Given the description of an element on the screen output the (x, y) to click on. 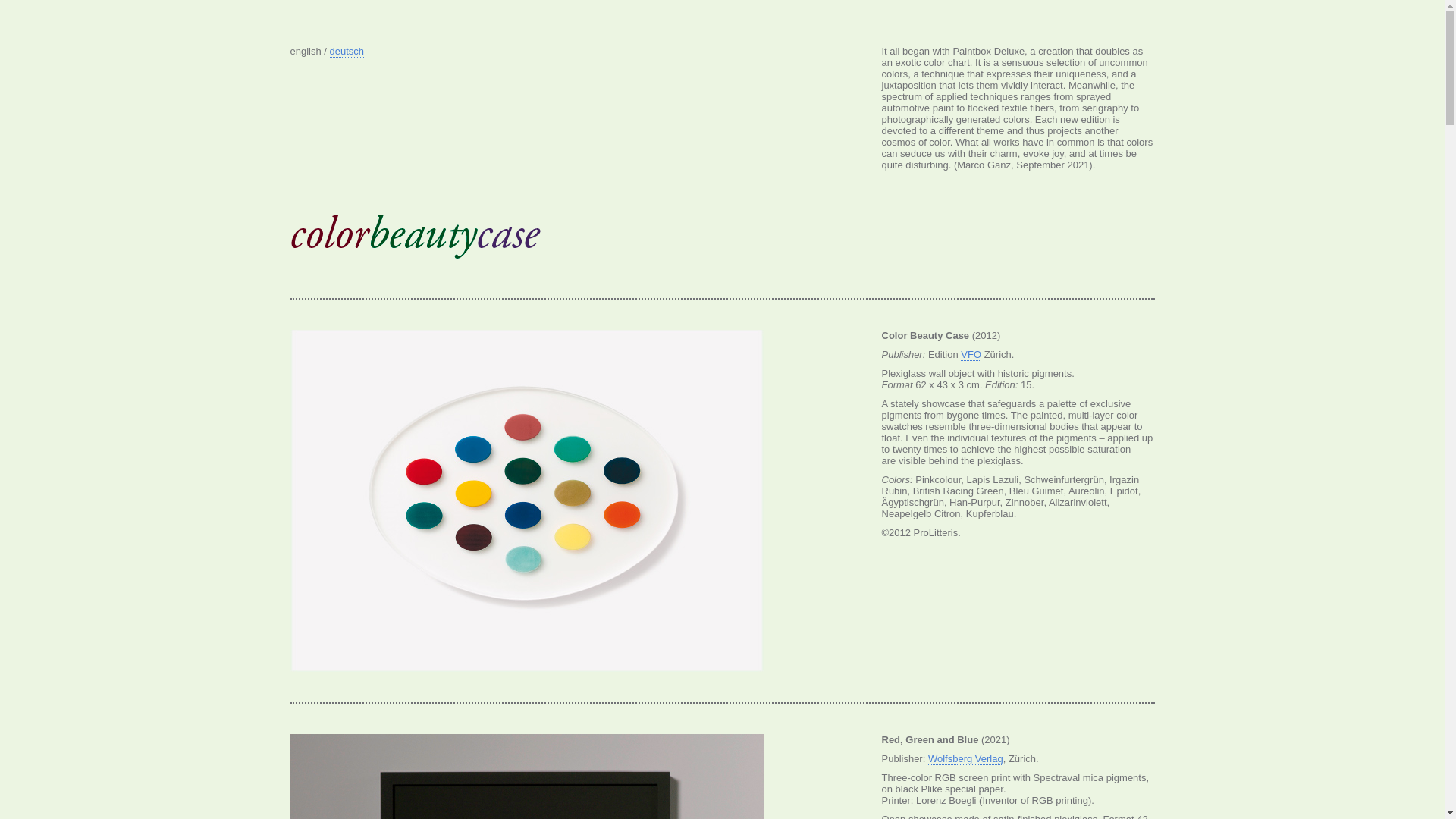
deutsch Element type: text (346, 51)
Wolfsberg Verlag Element type: text (965, 759)
VFO Element type: text (970, 354)
